Given the description of an element on the screen output the (x, y) to click on. 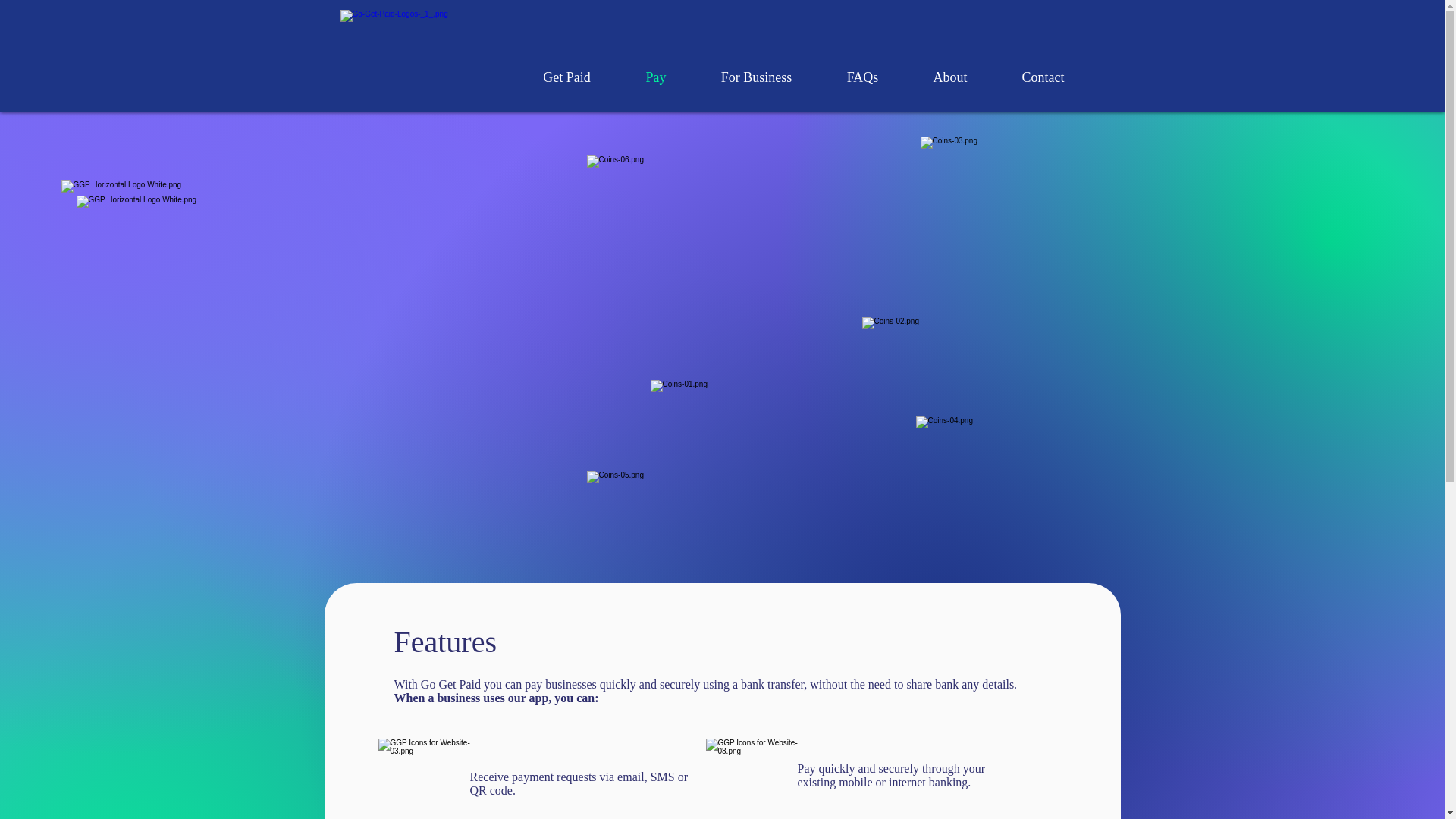
Get Paid (566, 77)
Pay (656, 77)
FAQs (861, 77)
For Business (755, 77)
Contact (1043, 77)
About (949, 77)
